Given the description of an element on the screen output the (x, y) to click on. 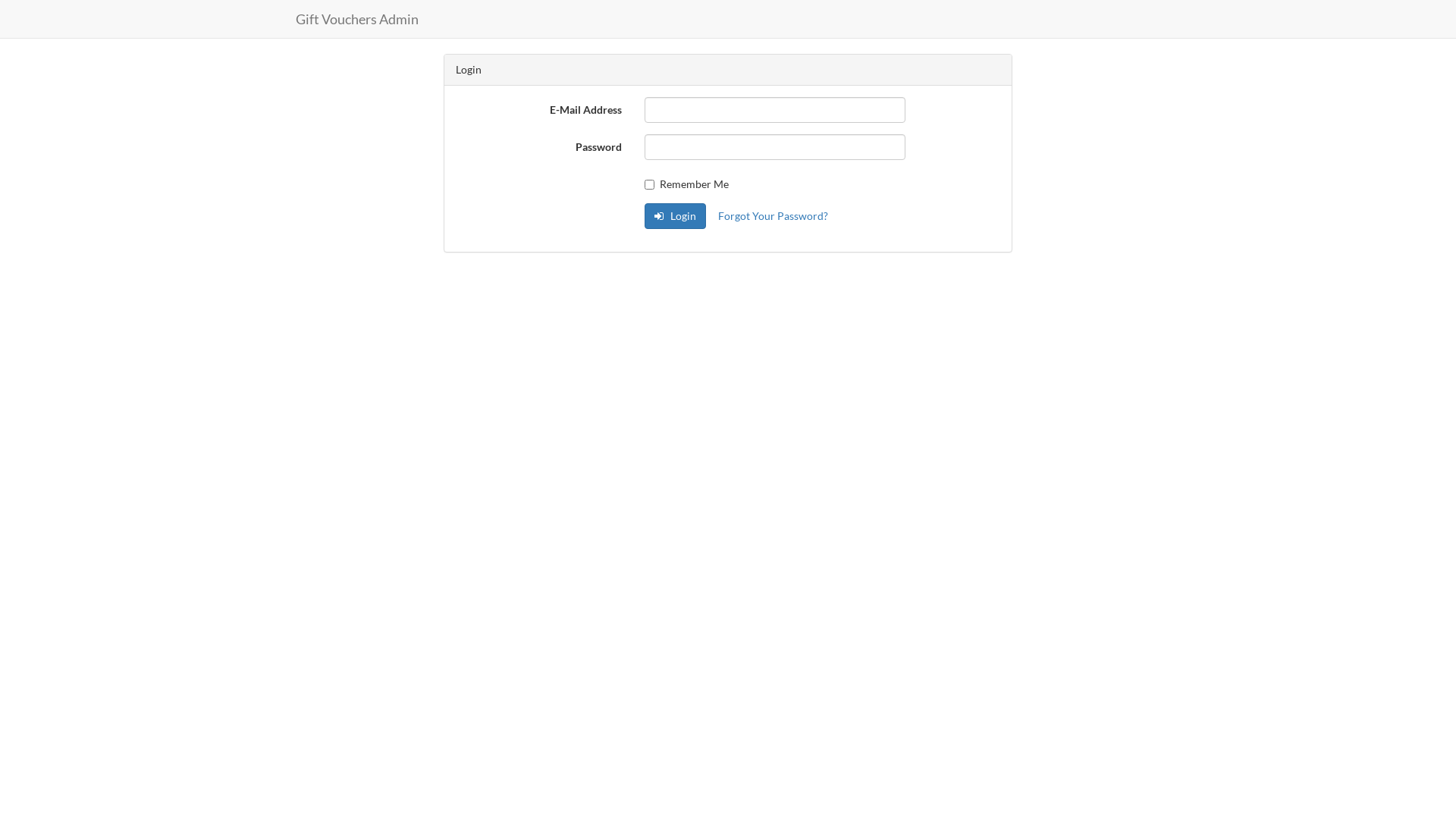
Login Element type: text (675, 216)
Gift Vouchers Admin Element type: text (356, 18)
Forgot Your Password? Element type: text (772, 216)
